Given the description of an element on the screen output the (x, y) to click on. 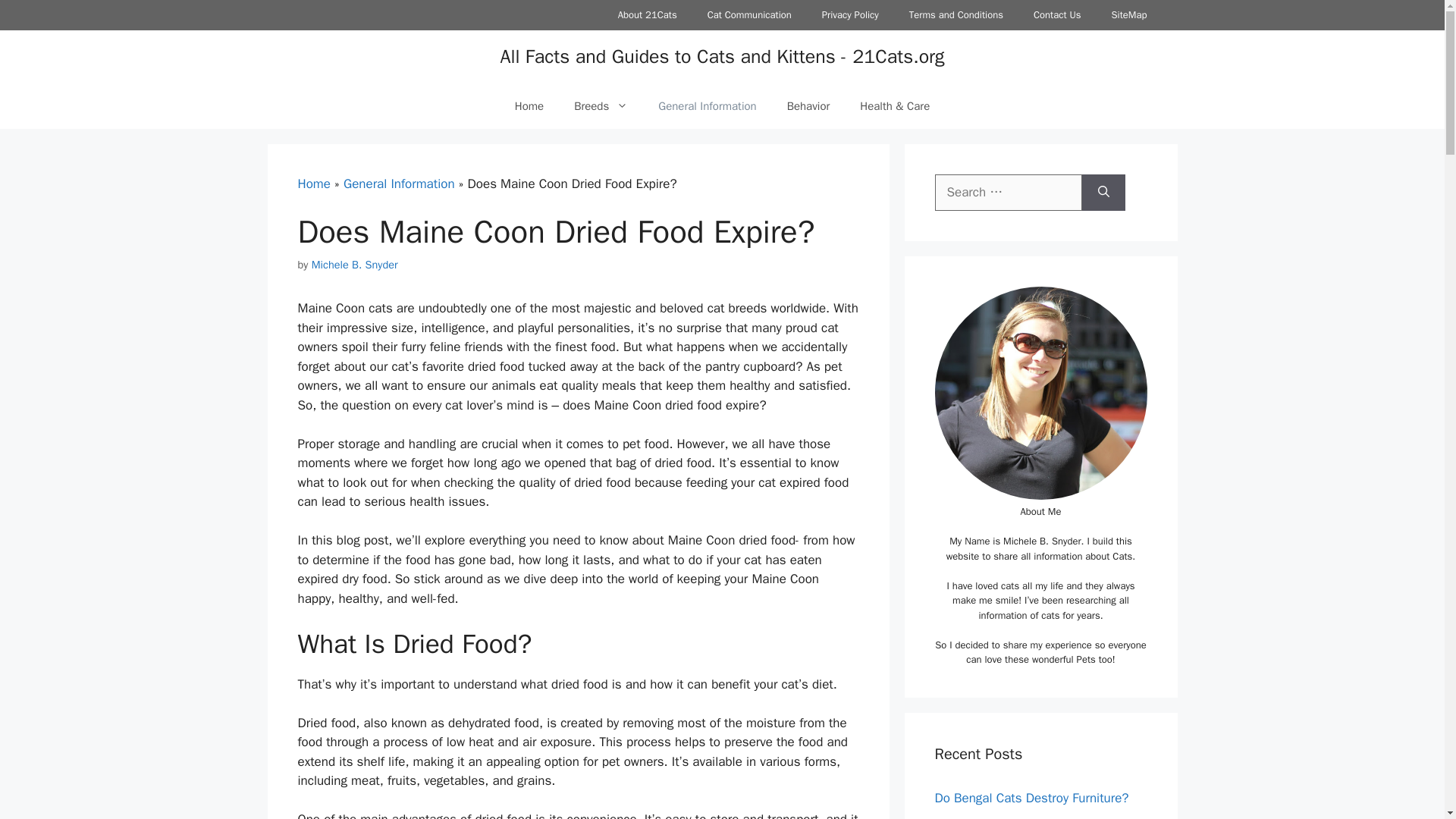
Privacy Policy (849, 15)
Why Do Cats Have Funny 5 Minutes? (1037, 817)
Home (313, 183)
Contact Us (1056, 15)
Do Bengal Cats Destroy Furniture? (1031, 797)
All Facts and Guides to Cats and Kittens - 21Cats.org (721, 56)
Behavior (808, 105)
SiteMap (1128, 15)
View all posts by Michele B. Snyder (354, 264)
Search for: (1007, 192)
